Given the description of an element on the screen output the (x, y) to click on. 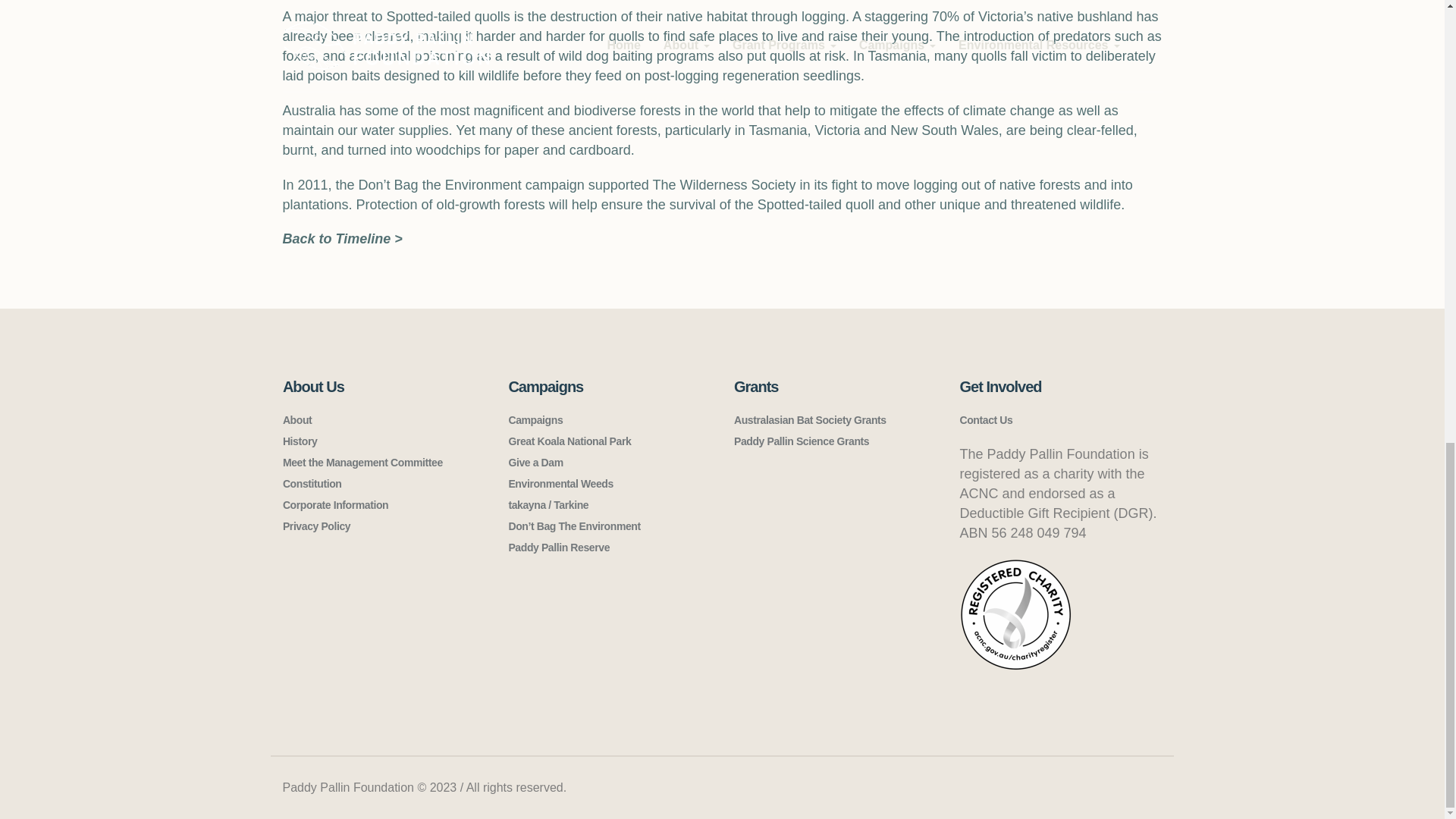
Constitution (312, 483)
About (296, 419)
Corporate Information (335, 504)
Meet the Management Committee (362, 462)
History (299, 440)
Privacy Policy (316, 526)
